Given the description of an element on the screen output the (x, y) to click on. 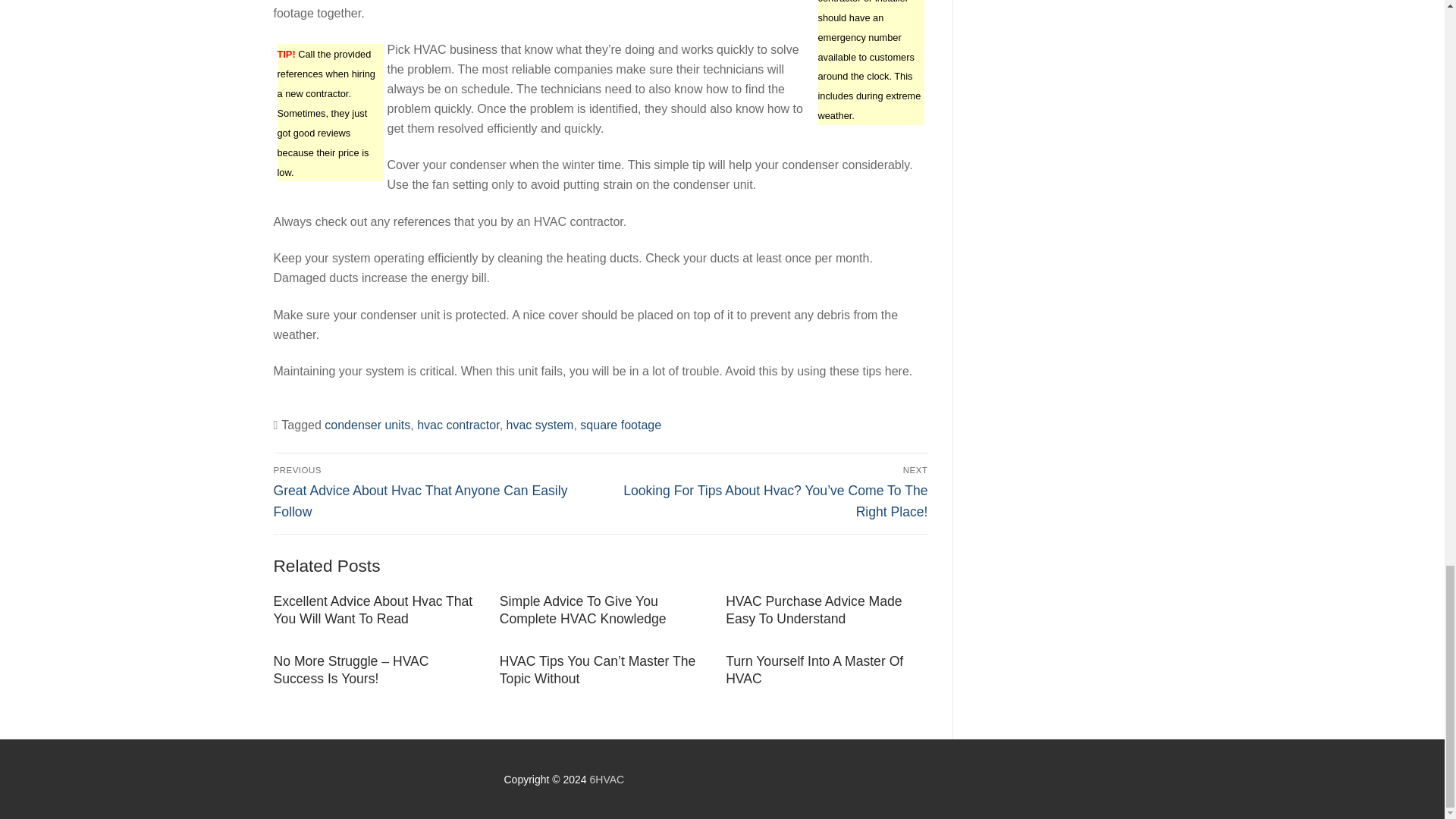
Turn Yourself Into A Master Of HVAC (813, 669)
square footage (620, 424)
Simple Advice To Give You Complete HVAC Knowledge (582, 609)
HVAC Purchase Advice Made Easy To Understand (813, 609)
Excellent Advice About Hvac That You Will Want To Read (372, 609)
hvac contractor (457, 424)
Simple Advice To Give You Complete HVAC Knowledge (582, 609)
hvac system (539, 424)
HVAC Purchase Advice Made Easy To Understand (813, 609)
Excellent Advice About Hvac That You Will Want To Read (372, 609)
condenser units (367, 424)
